Given the description of an element on the screen output the (x, y) to click on. 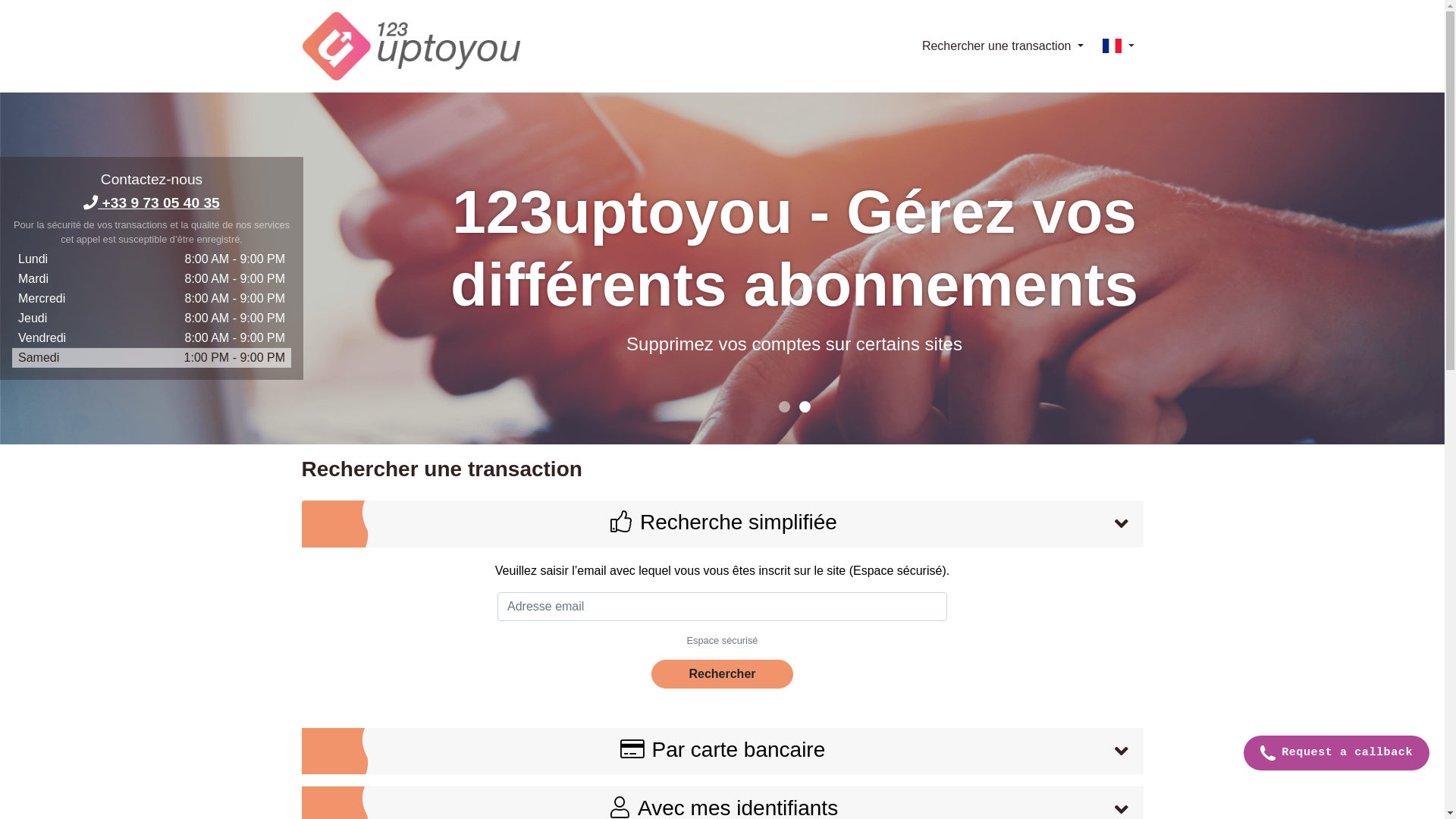
+33 9 73 05 40 35 Element type: text (151, 202)
Rechercher une transaction Element type: text (1002, 45)
Opens a widget where you can find more information Element type: hover (1336, 754)
Rechercher Element type: text (721, 673)
